Given the description of an element on the screen output the (x, y) to click on. 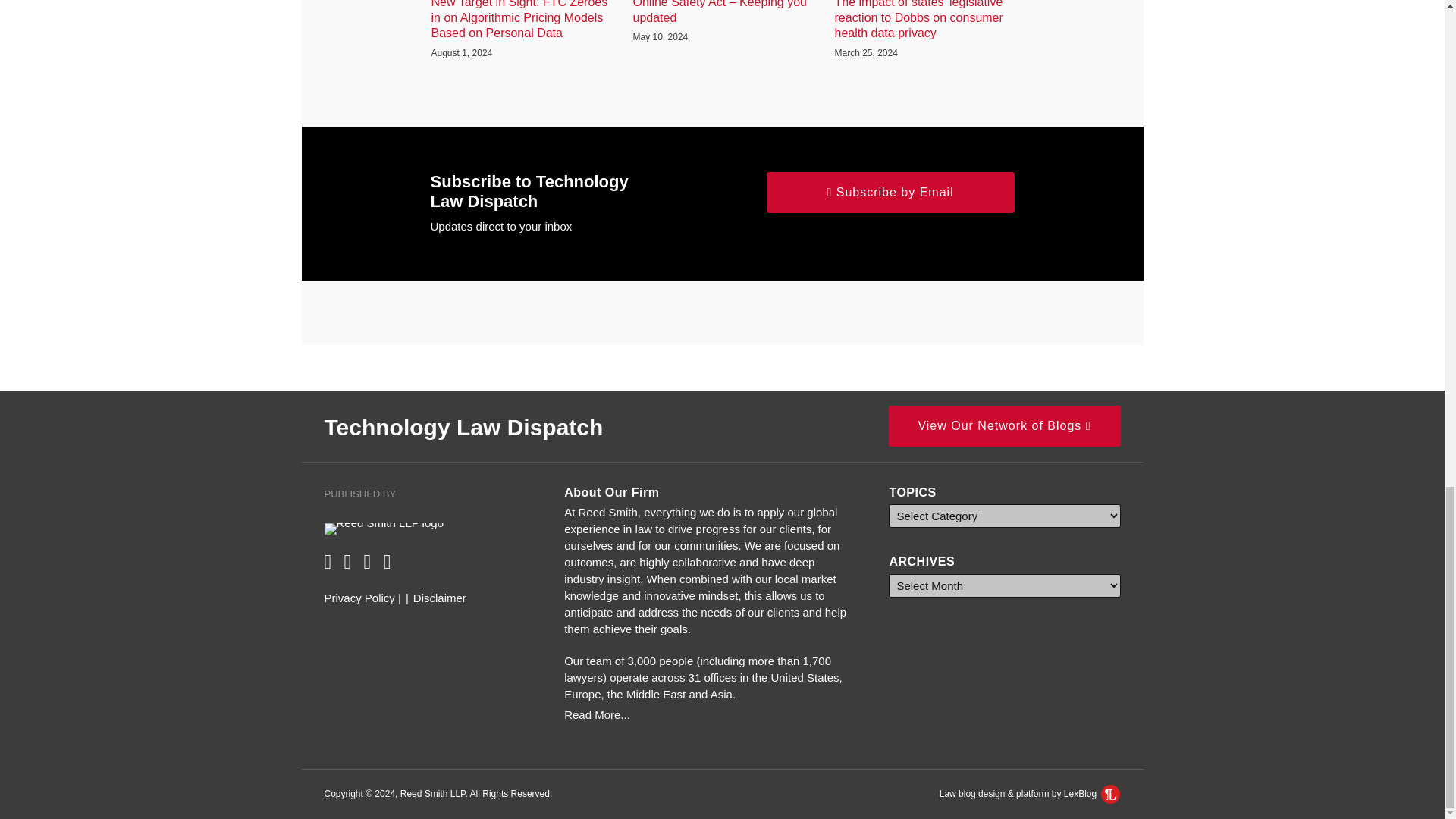
Technology Law Dispatch (464, 426)
Subscribe by Email (890, 191)
LexBlog Logo (1109, 793)
View Our Network of Blogs (1004, 425)
